Given the description of an element on the screen output the (x, y) to click on. 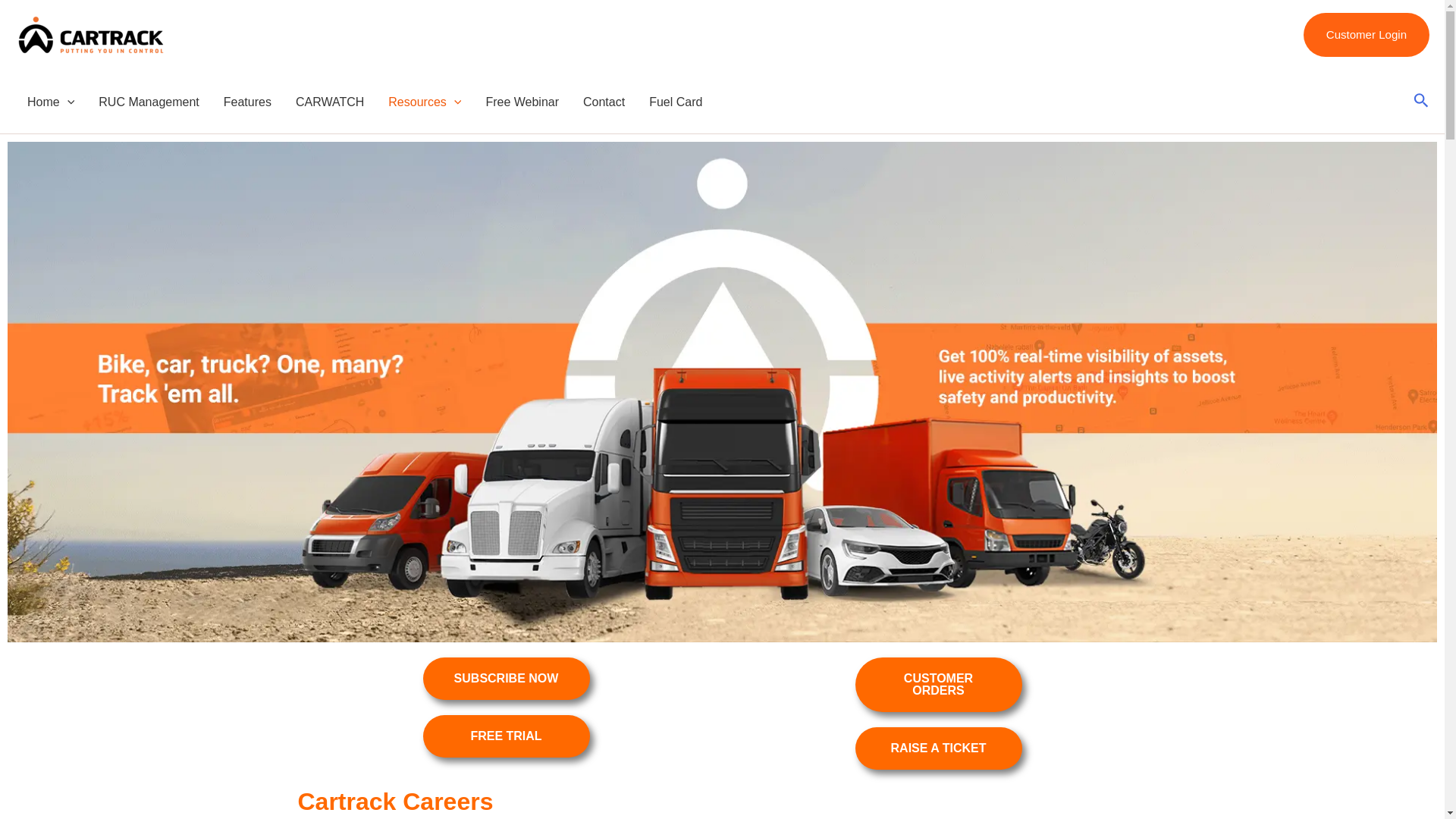
CARWATCH (329, 101)
Customer Login (1366, 34)
RUC Management (148, 101)
Fuel Card (675, 101)
Contact (603, 101)
Features (247, 101)
Free Webinar (521, 101)
Home (49, 101)
Resources (424, 101)
